Given the description of an element on the screen output the (x, y) to click on. 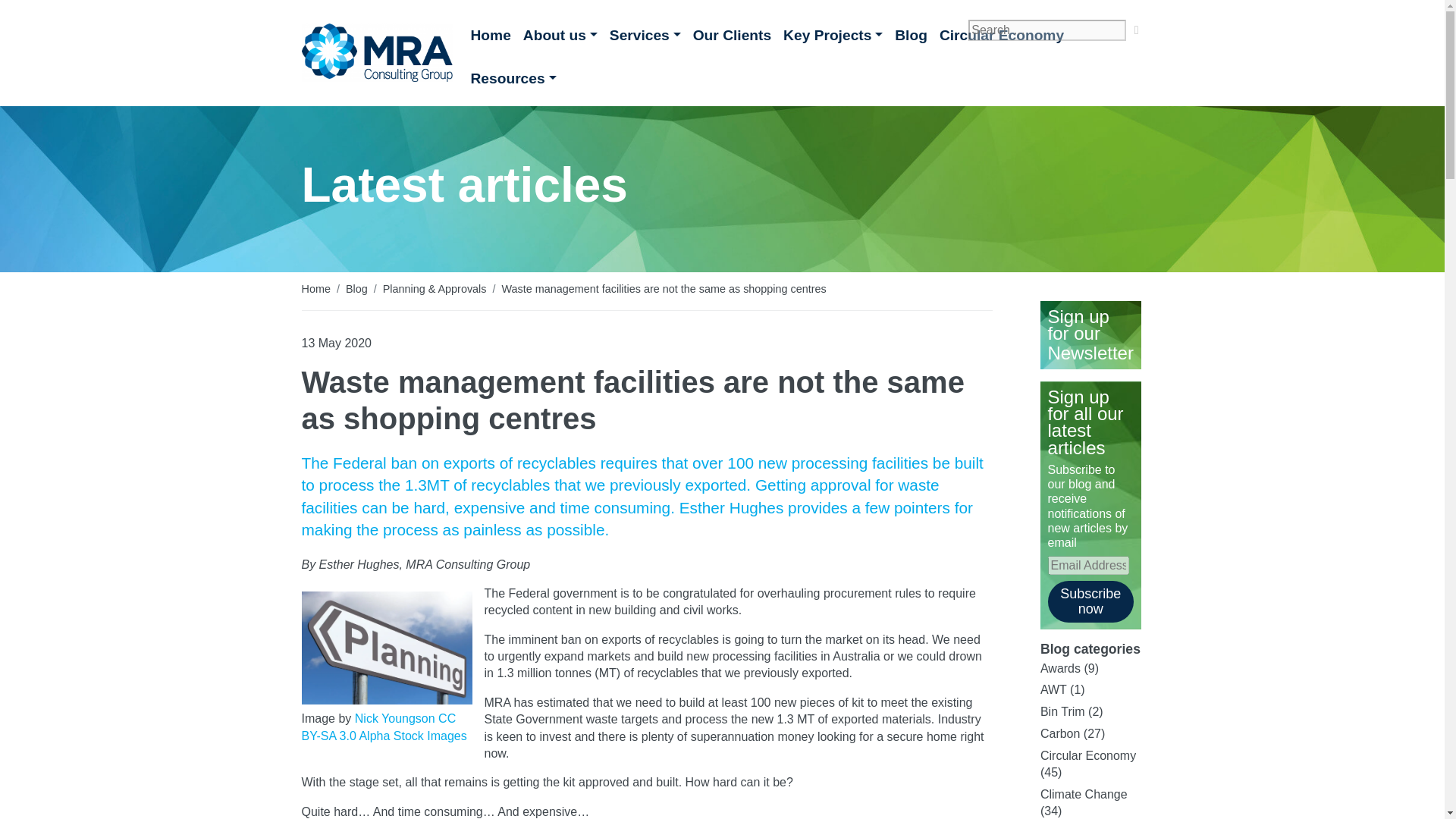
Home (490, 41)
Blog (357, 288)
About us (560, 41)
Our Clients (732, 41)
CC BY-SA 3.0 (379, 726)
Key Projects (832, 41)
Services (645, 41)
Our Clients (732, 41)
Services (645, 41)
Resources (513, 84)
Home (490, 41)
About us (560, 41)
Nick Youngson (395, 717)
Blog (910, 41)
